Given the description of an element on the screen output the (x, y) to click on. 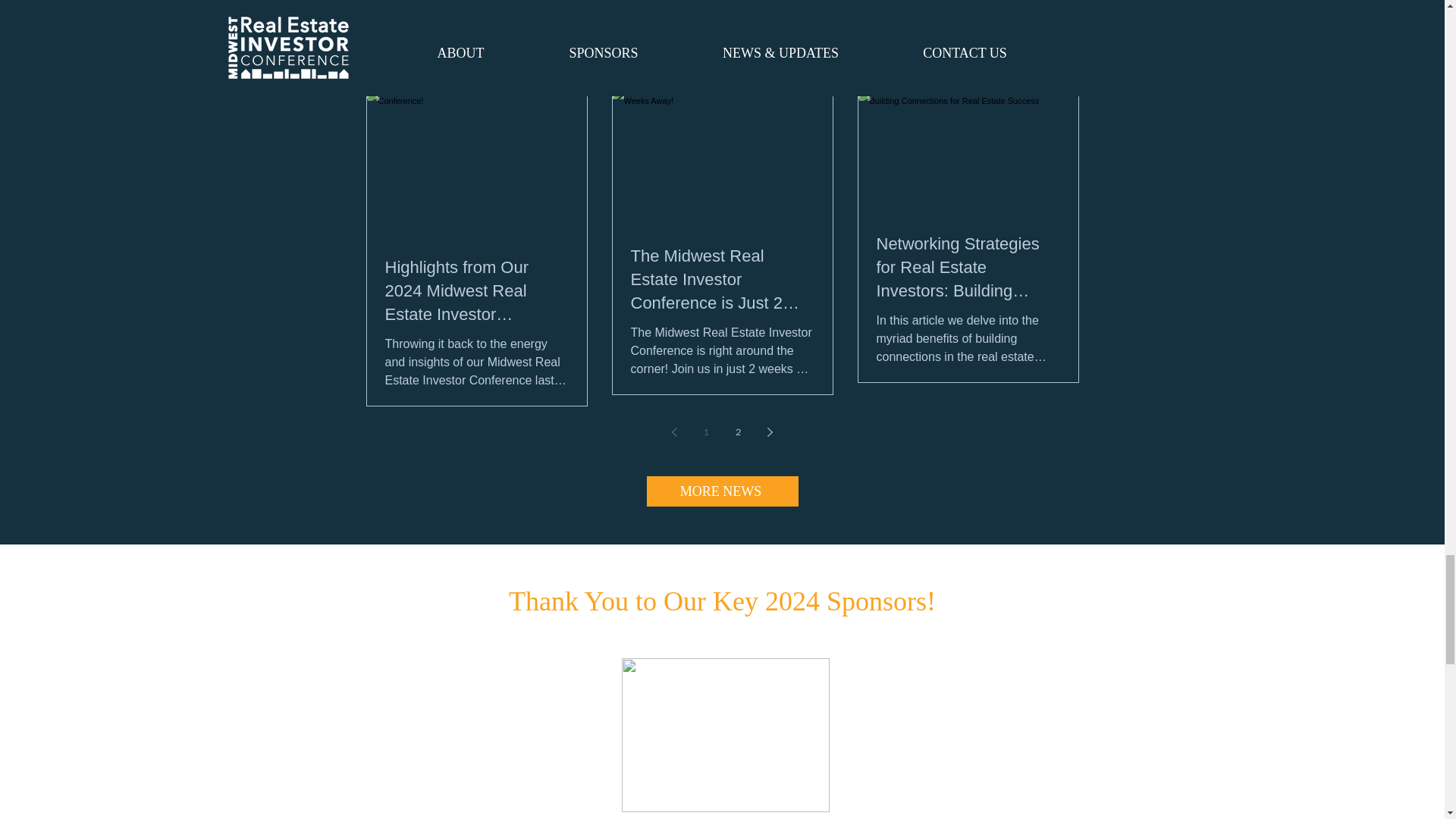
MORE NEWS (721, 490)
2 (738, 431)
